Given the description of an element on the screen output the (x, y) to click on. 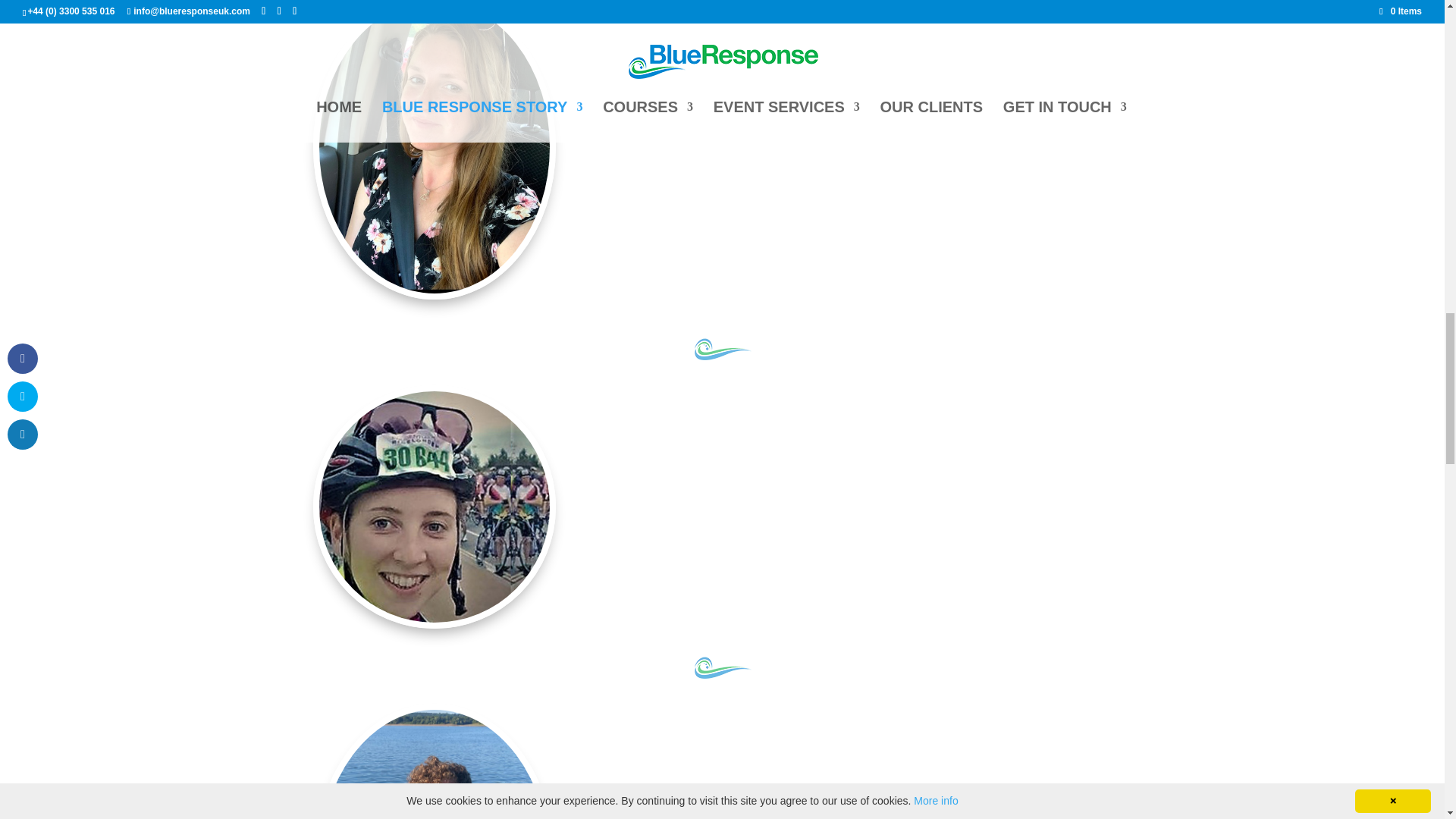
Dom resize (433, 764)
